Given the description of an element on the screen output the (x, y) to click on. 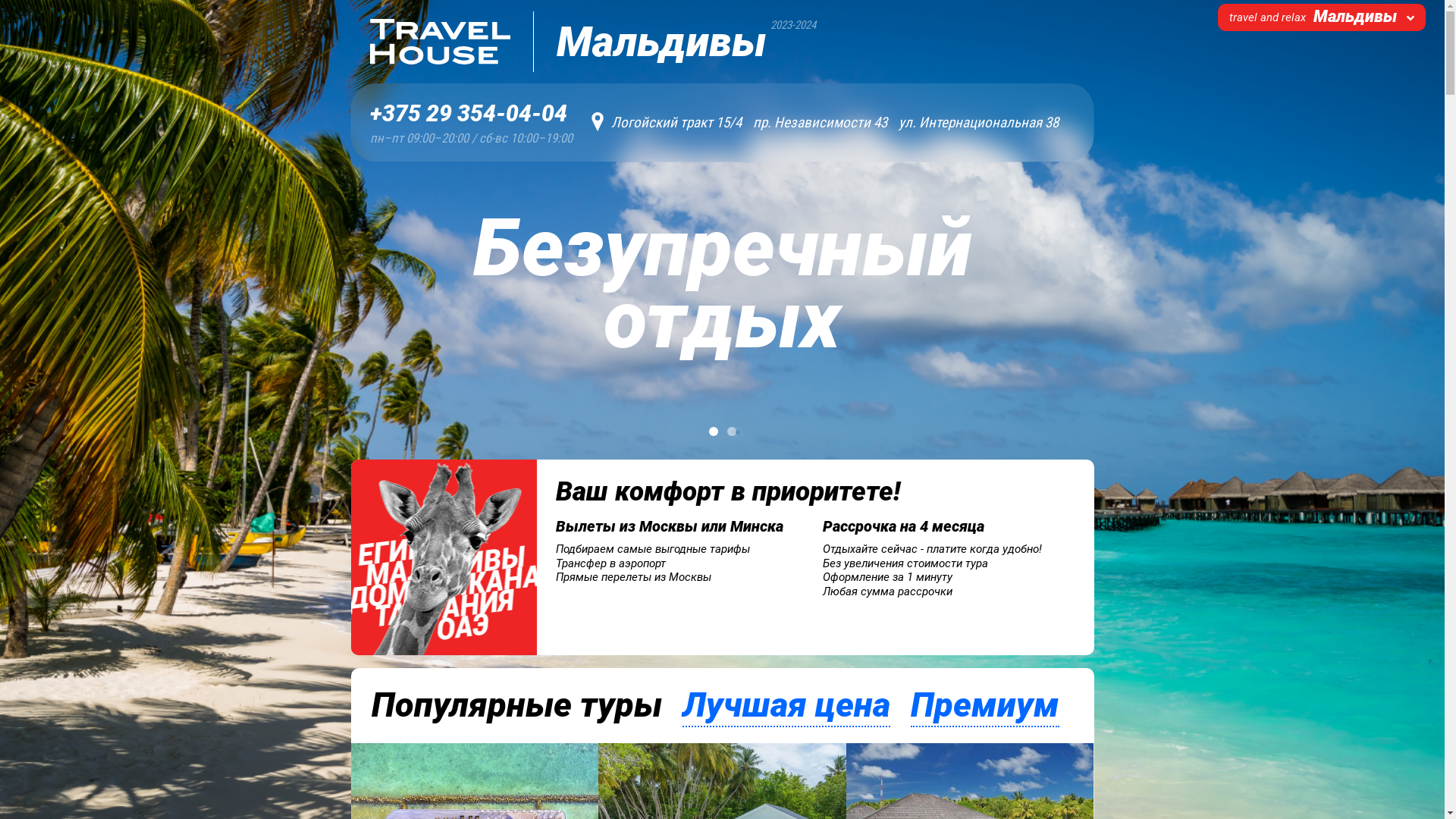
+375 29 354-04-04 Element type: text (471, 113)
Travel House Element type: text (441, 41)
